Given the description of an element on the screen output the (x, y) to click on. 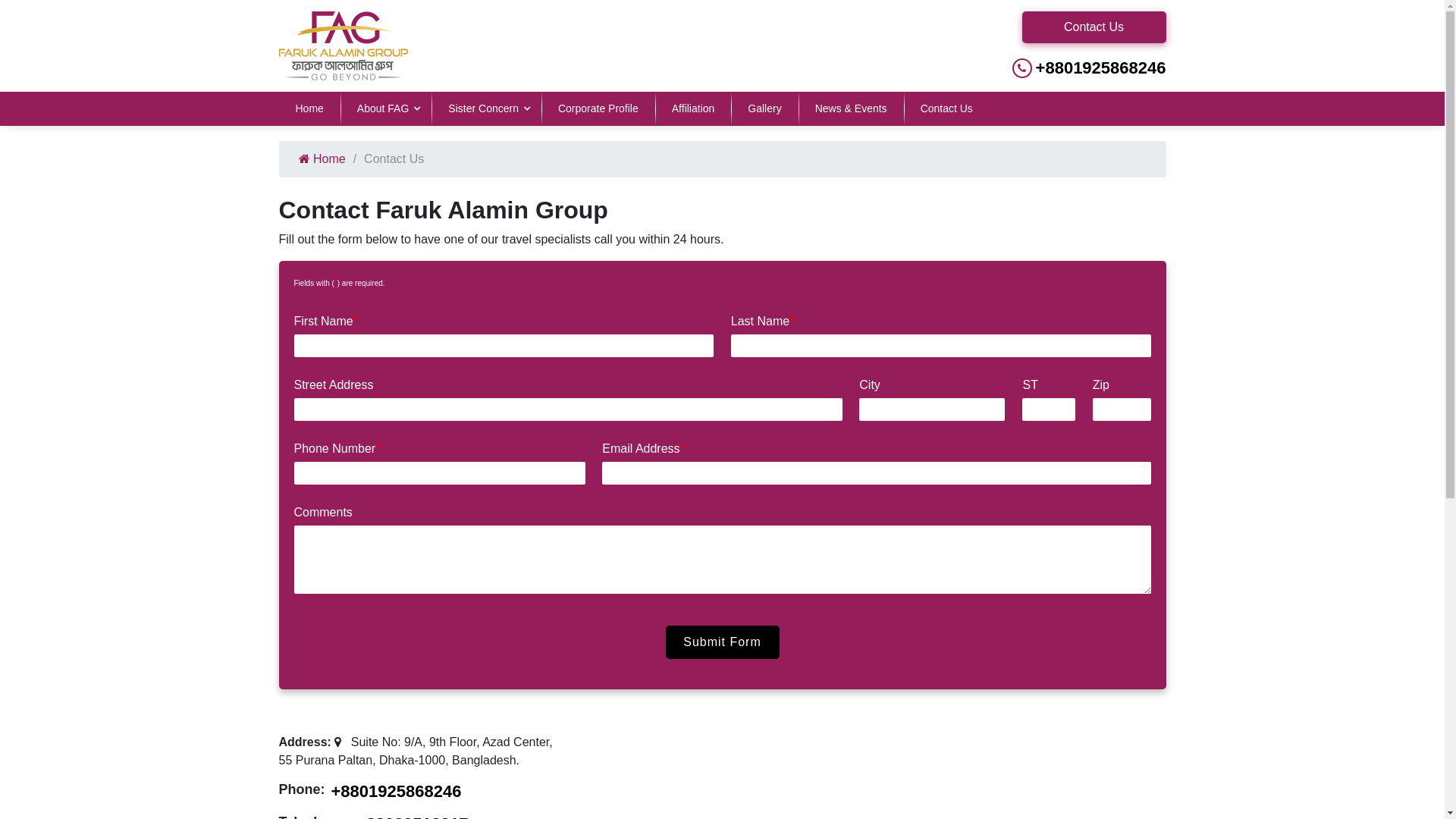
Home Element type: text (309, 108)
Faruk Alamin Group Element type: hover (343, 45)
Contact Us Element type: text (946, 108)
News & Events Element type: text (851, 108)
Affiliation Element type: text (693, 108)
About FAG Element type: text (385, 108)
Submit Form Element type: text (722, 641)
Sister Concern Element type: text (486, 108)
Home Element type: text (322, 159)
Contact Us Element type: text (1094, 27)
Corporate Profile Element type: text (598, 108)
Gallery Element type: text (764, 108)
+8801925868246 Element type: text (1063, 67)
+8801925868246 Element type: text (395, 791)
